Given the description of an element on the screen output the (x, y) to click on. 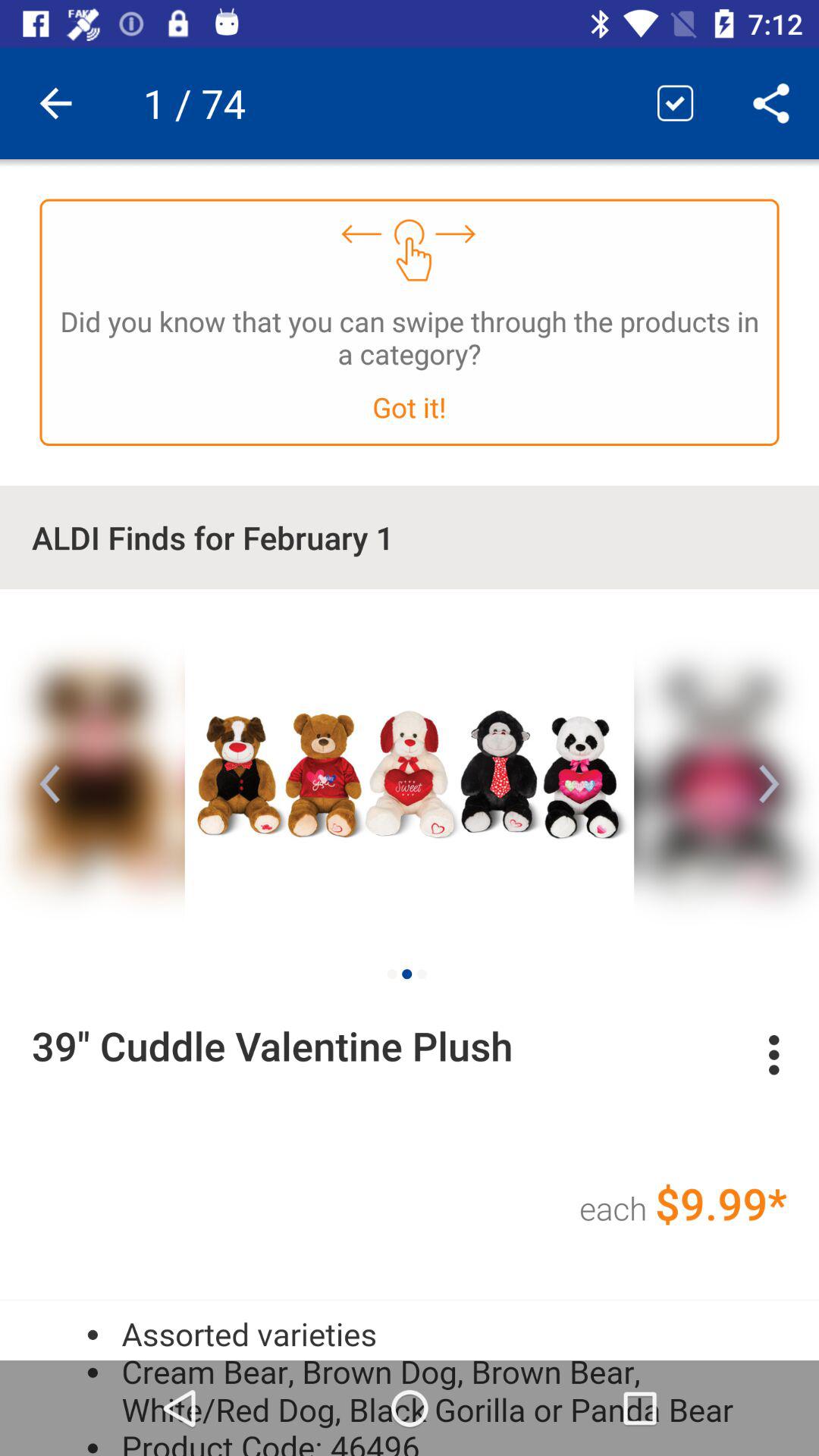
expand photo (409, 771)
